Given the description of an element on the screen output the (x, y) to click on. 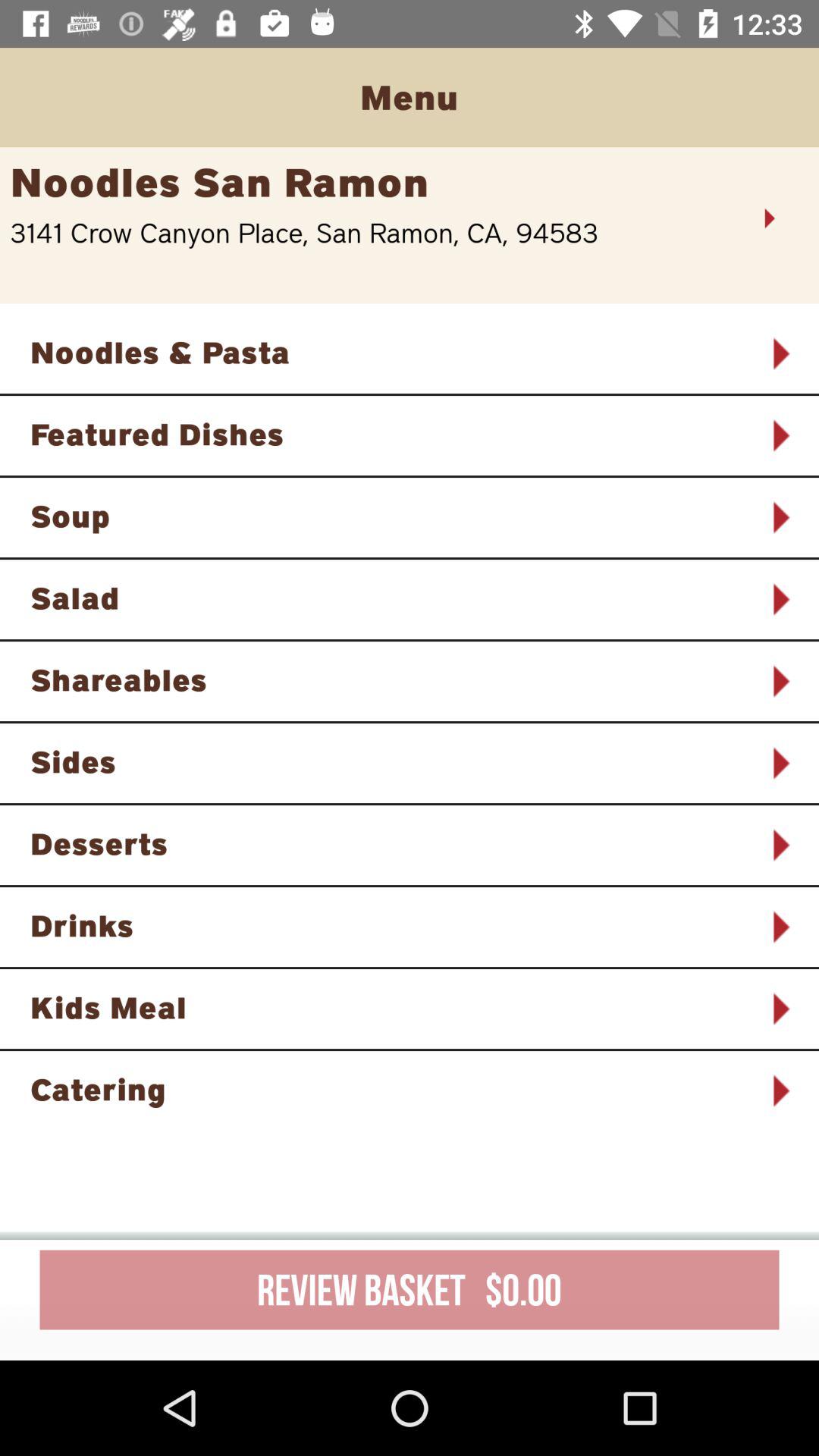
tap the item above kids meal (390, 925)
